Given the description of an element on the screen output the (x, y) to click on. 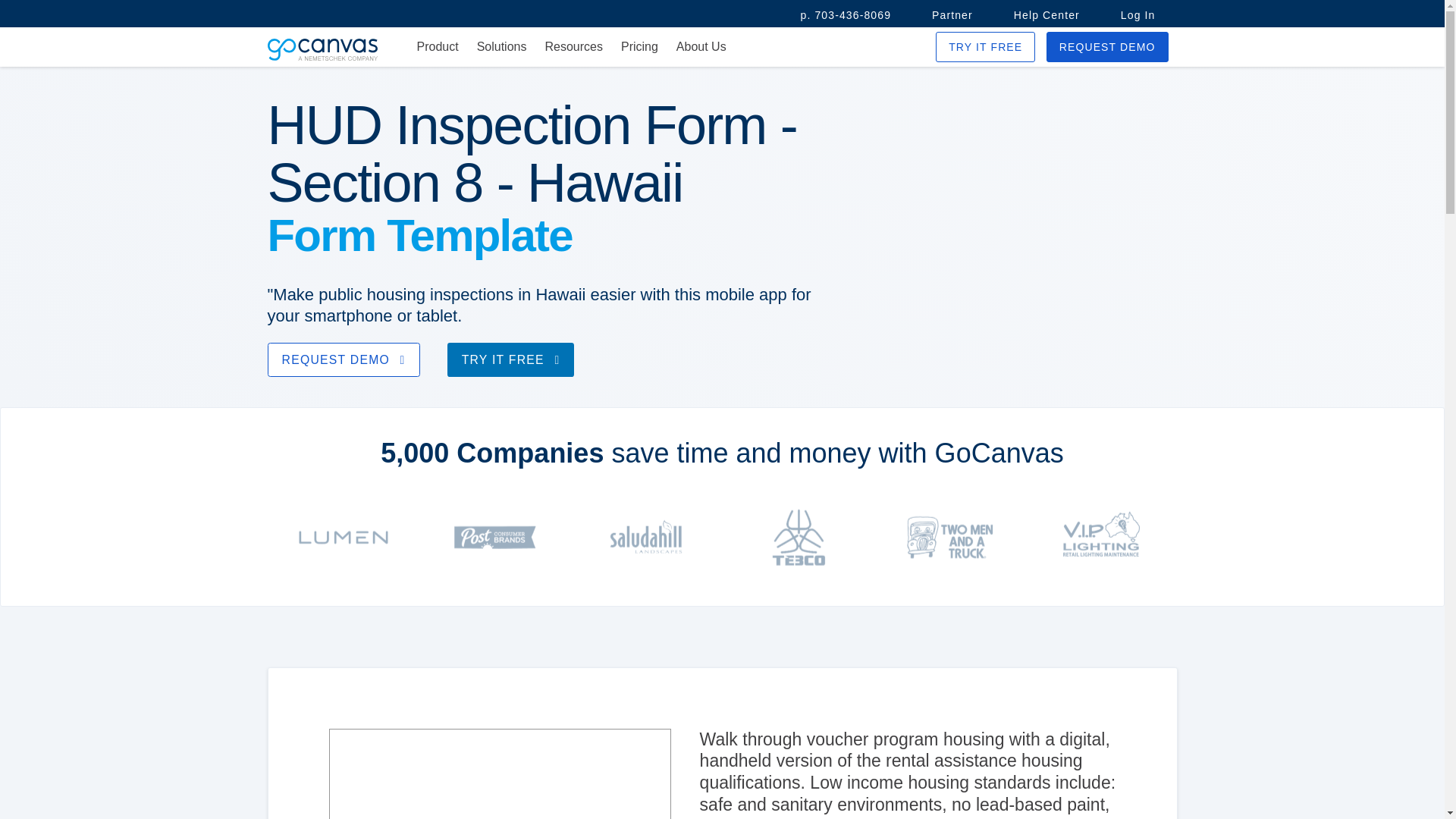
TRY IT FREE (985, 46)
About Us (701, 46)
Help Center (1047, 15)
Partner (951, 15)
TRY IT FREE (510, 359)
REQUEST DEMO (1107, 46)
Log In (1138, 15)
REQUEST DEMO (342, 359)
Pricing (639, 46)
p. 703-436-8069 (845, 15)
